Given the description of an element on the screen output the (x, y) to click on. 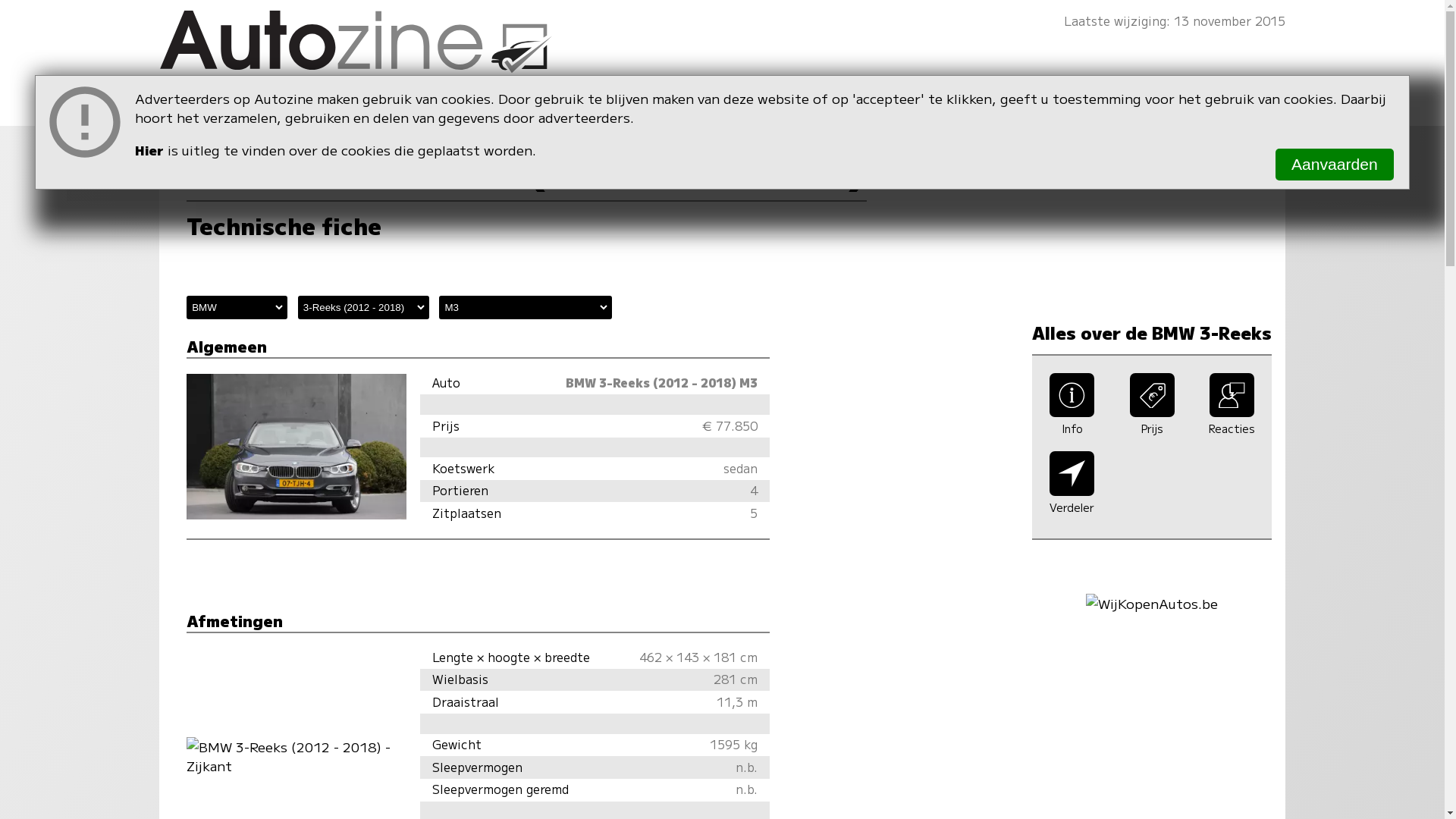
REACTIES Element type: text (971, 125)
Aanvaarden Element type: text (1334, 164)
Info Element type: text (1071, 423)
Verdeler Element type: text (1071, 502)
VERGELIJK Element type: text (786, 125)
Reacties Element type: text (1231, 423)
Autozine Element type: hover (722, 49)
  Element type: text (1222, 124)
ALLE WAGENS Element type: text (264, 125)
TESTS Element type: text (448, 125)
Zoek Element type: hover (1222, 124)
Hier Element type: text (148, 149)
ADVIES Element type: text (609, 125)
Prijs Element type: text (1151, 423)
